Given the description of an element on the screen output the (x, y) to click on. 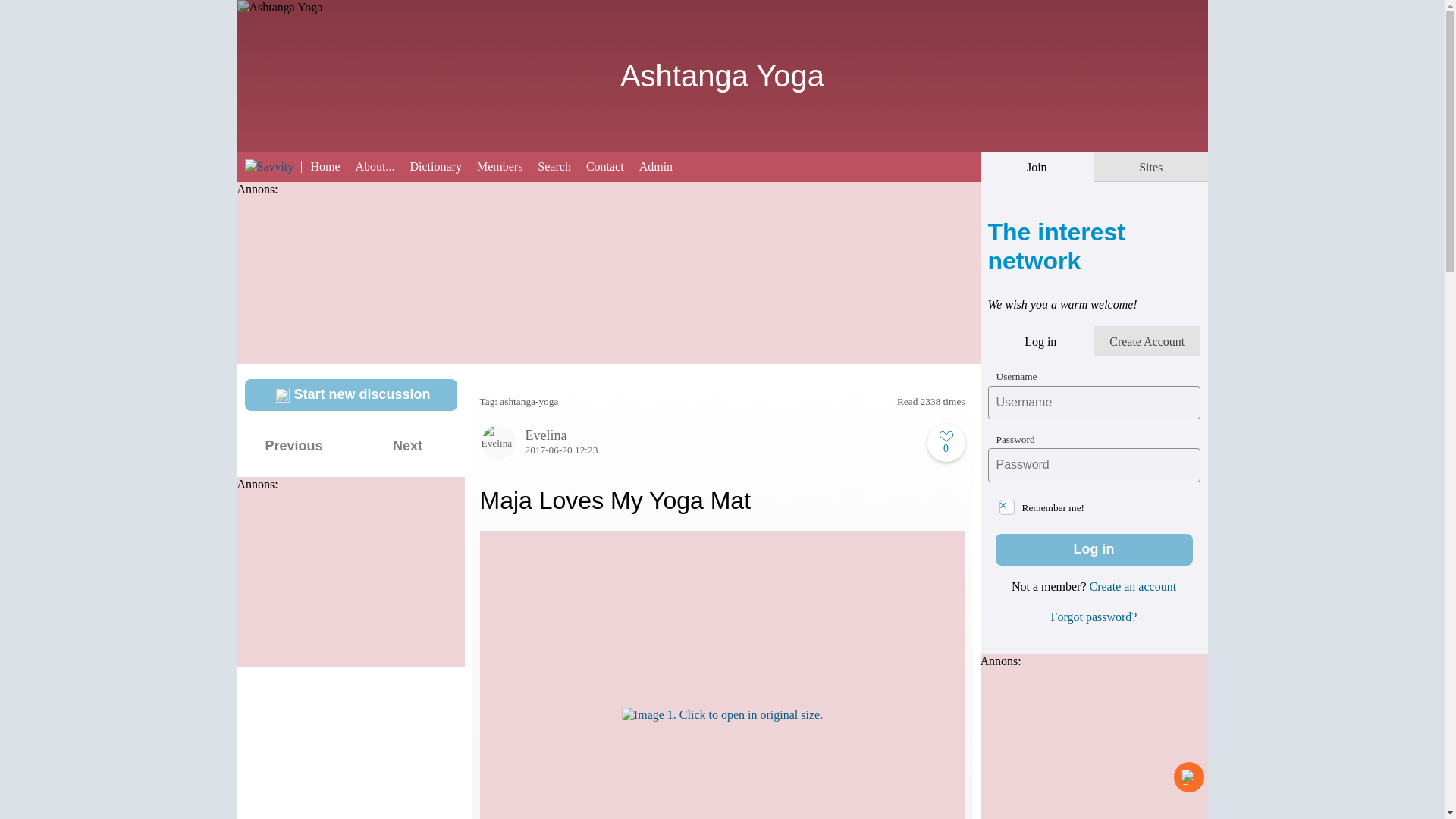
Search (561, 165)
Members (507, 165)
Dictionary (442, 165)
Home (332, 165)
Evelina (721, 435)
on (1006, 507)
Ashtanga Yoga (722, 82)
Start new discussion (350, 395)
Forgot password? (1094, 616)
About... (382, 165)
Next (407, 446)
Admin (663, 165)
Log in (1093, 549)
Show discussions (261, 20)
Scroll to top (1188, 777)
